Given the description of an element on the screen output the (x, y) to click on. 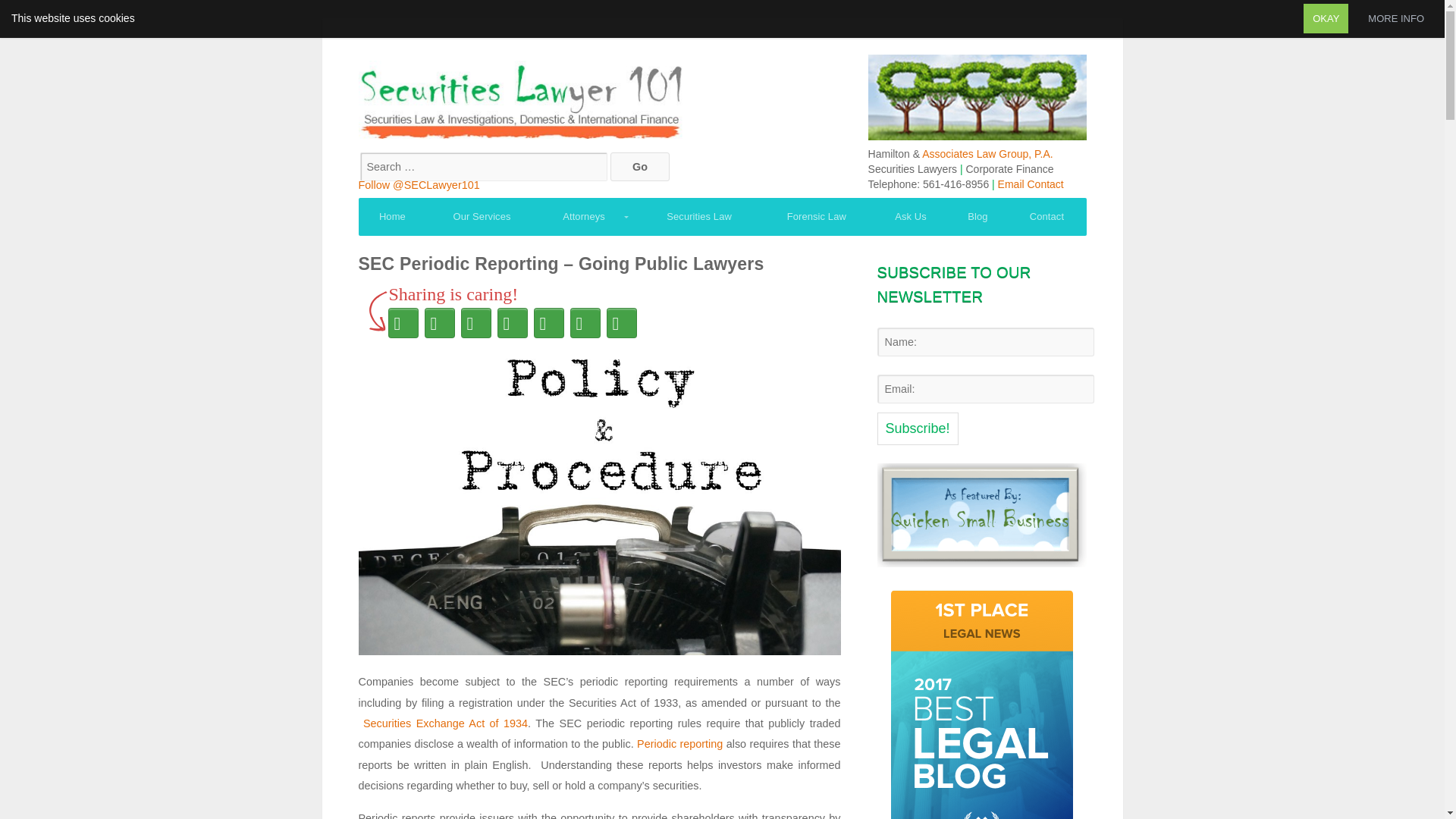
Securities Law (699, 216)
Periodic reporting (679, 743)
Blog (978, 216)
Go (639, 166)
Pinterest (476, 322)
Our Services (481, 216)
Ask Us (911, 216)
Blogger Post (549, 322)
Attorneys (588, 216)
Subscribe! (917, 428)
Name:  (984, 341)
Home (392, 216)
Email This (513, 322)
Email:  (984, 388)
Securities Exchange Act of 1934 (444, 723)
